Given the description of an element on the screen output the (x, y) to click on. 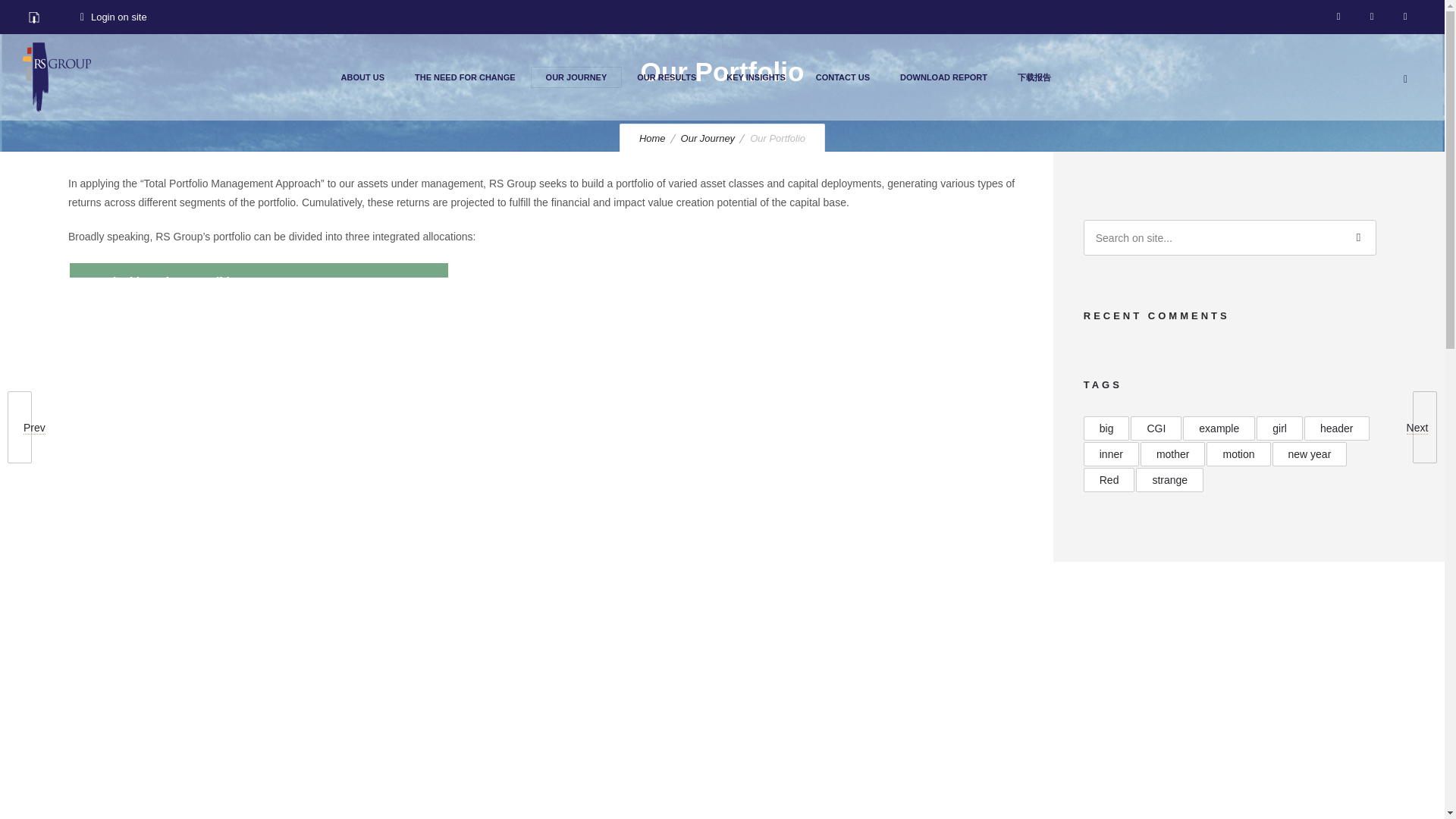
Twitter (1405, 16)
OUR RESULTS (666, 77)
ABOUT US (362, 77)
KEY INSIGHTS (755, 77)
THE NEED FOR CHANGE (464, 77)
Search (1357, 237)
LinkedIN (1372, 16)
CONTACT US (842, 77)
Facebook (1338, 16)
Login on site (113, 16)
